Given the description of an element on the screen output the (x, y) to click on. 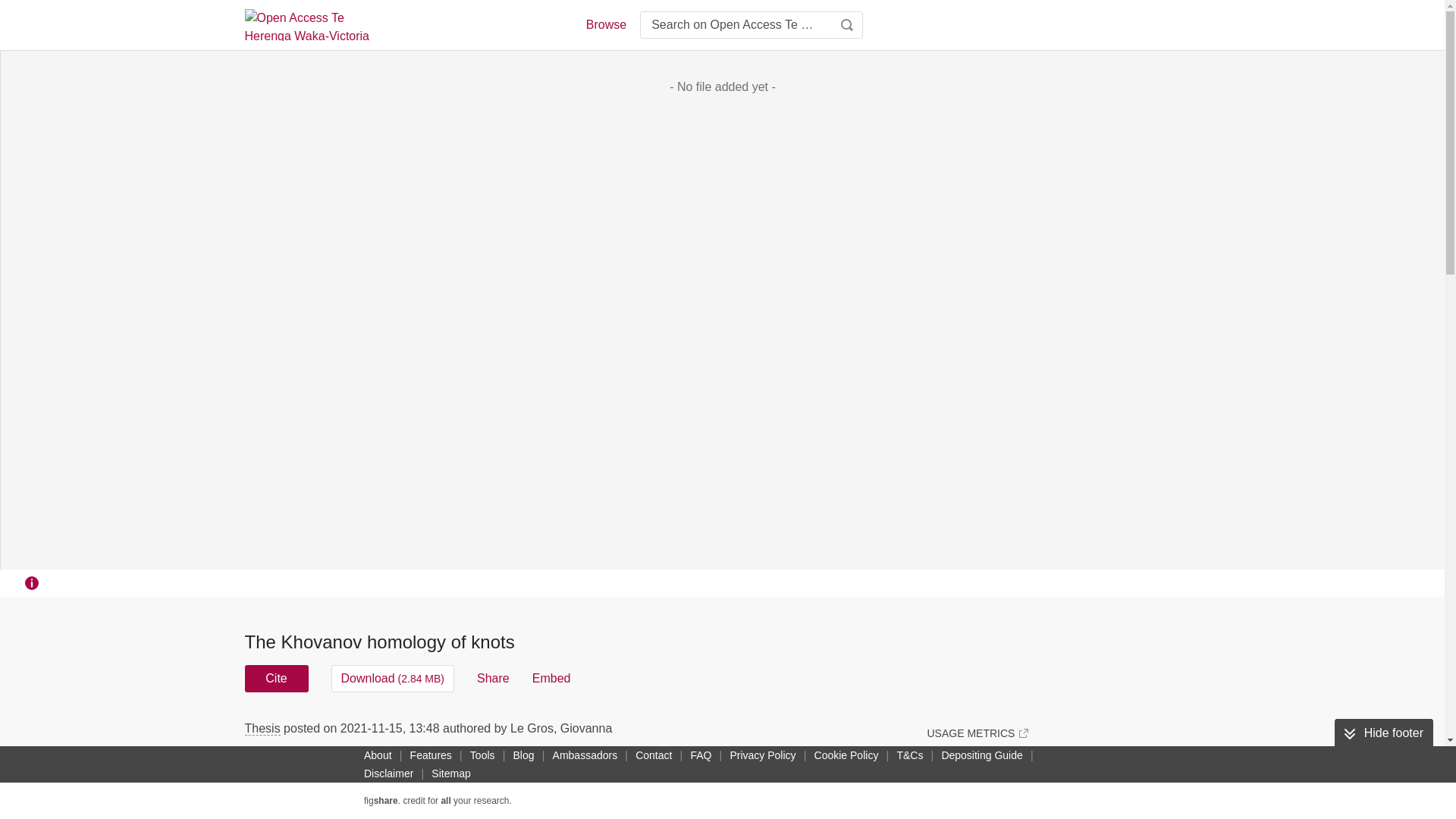
Cite (275, 678)
Share (493, 678)
Ambassadors (585, 755)
Embed (551, 678)
Browse (605, 24)
USAGE METRICS (976, 732)
Tools (482, 755)
FAQ (700, 755)
Contact (653, 755)
About (377, 755)
